Given the description of an element on the screen output the (x, y) to click on. 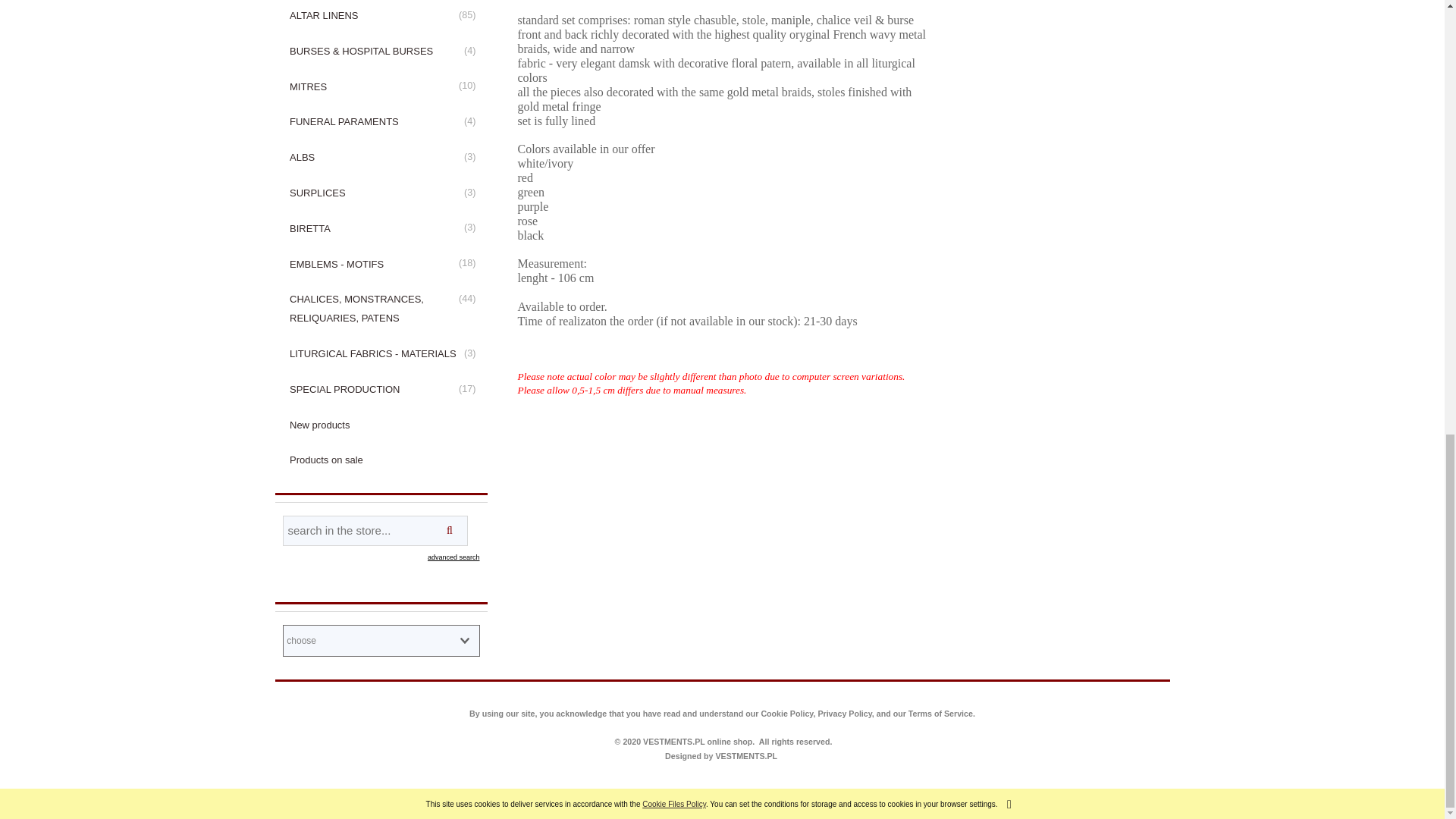
BIRETTA (380, 228)
ALTAR LINENS (380, 17)
ALBS (380, 158)
SURPLICES (380, 193)
MITRES (380, 86)
FUNERAL PARAMENTS (380, 122)
